Given the description of an element on the screen output the (x, y) to click on. 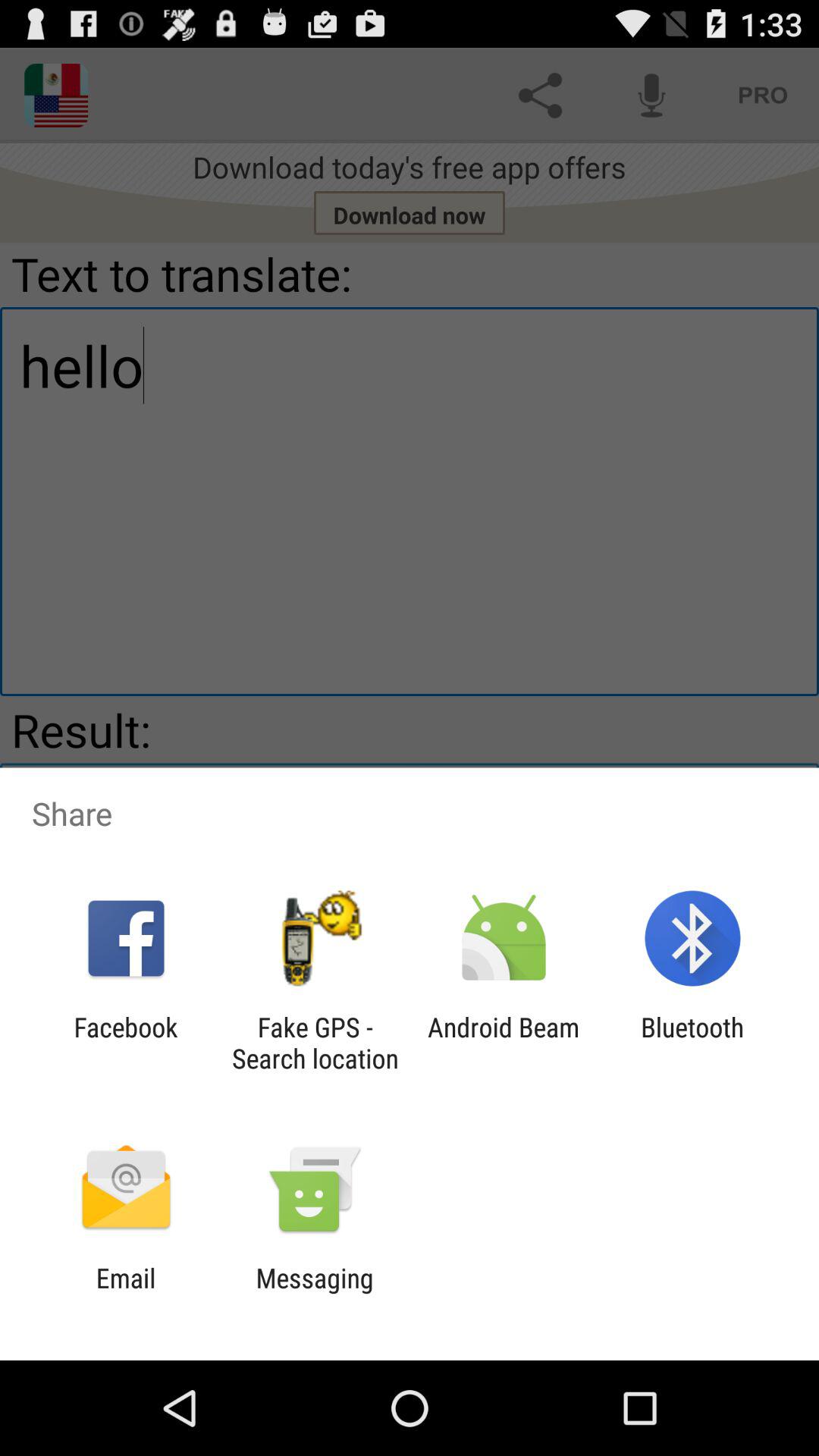
click the app next to facebook item (314, 1042)
